Given the description of an element on the screen output the (x, y) to click on. 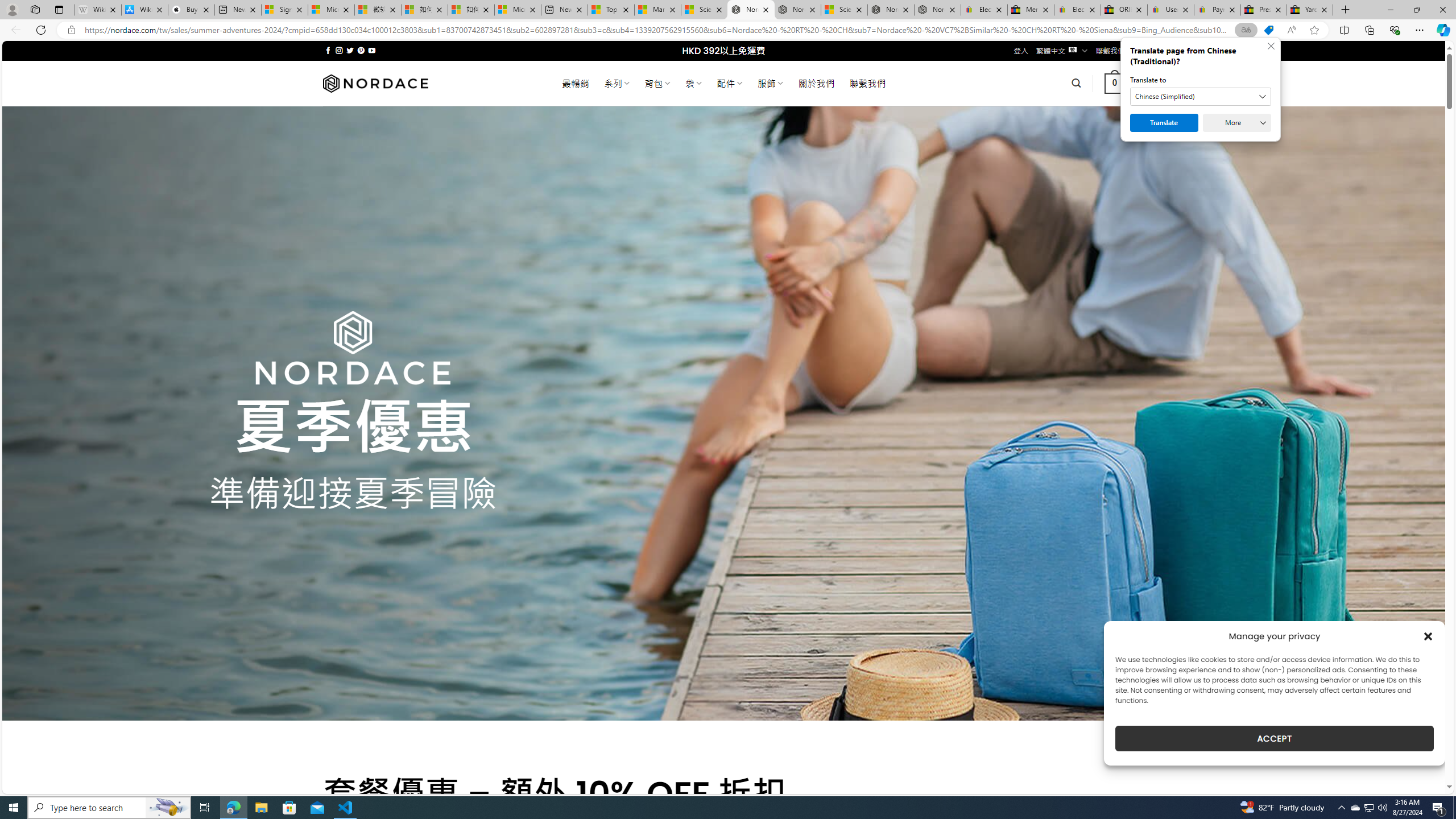
Payments Terms of Use | eBay.com (1216, 9)
Press Room - eBay Inc. (1263, 9)
Personal Profile (12, 9)
Split screen (1344, 29)
Yard, Garden & Outdoor Living (1309, 9)
Follow on YouTube (371, 50)
Microsoft Services Agreement (330, 9)
